Given the description of an element on the screen output the (x, y) to click on. 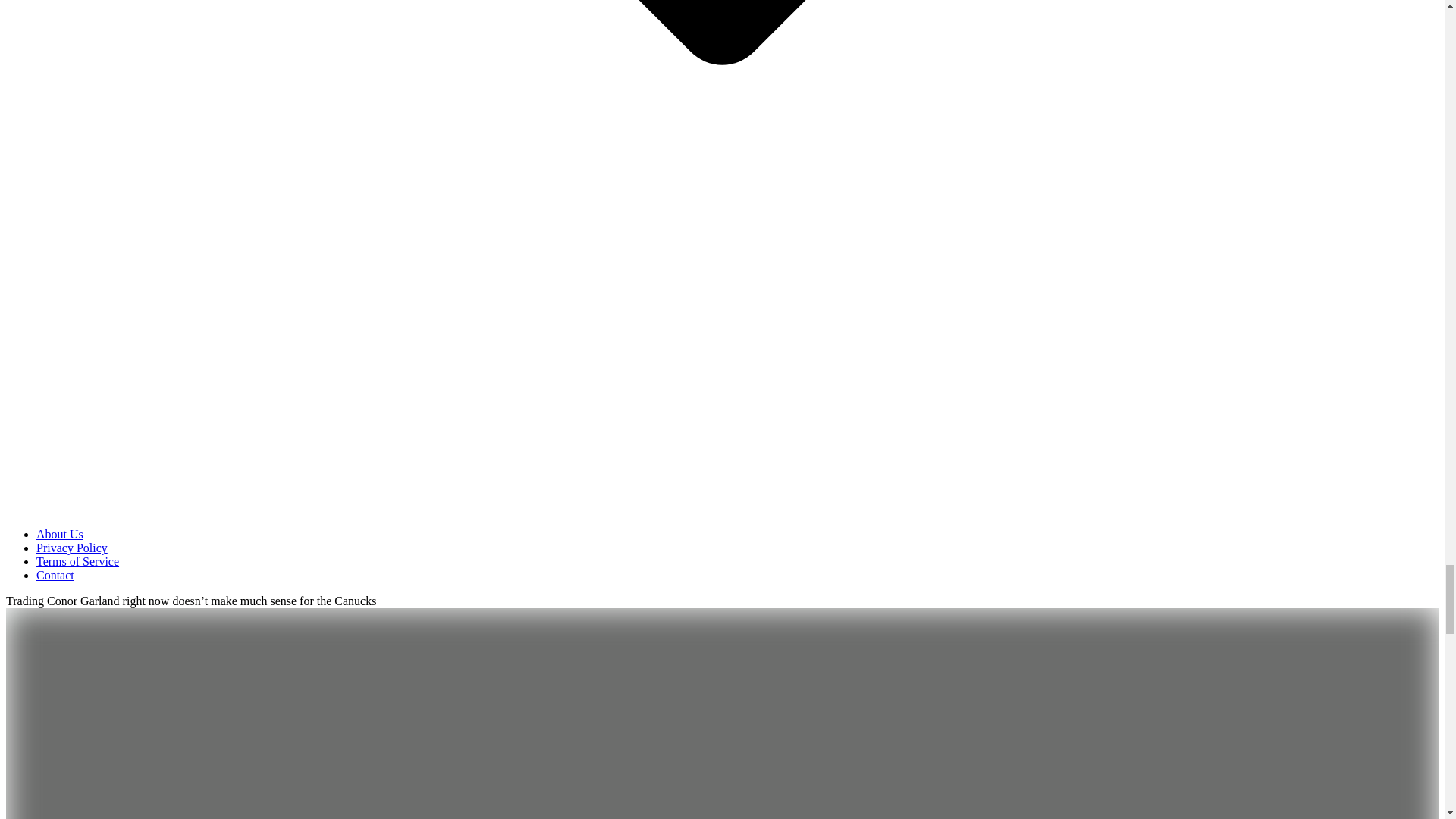
About Us (59, 533)
Privacy Policy (71, 547)
Contact (55, 574)
Terms of Service (77, 561)
